Given the description of an element on the screen output the (x, y) to click on. 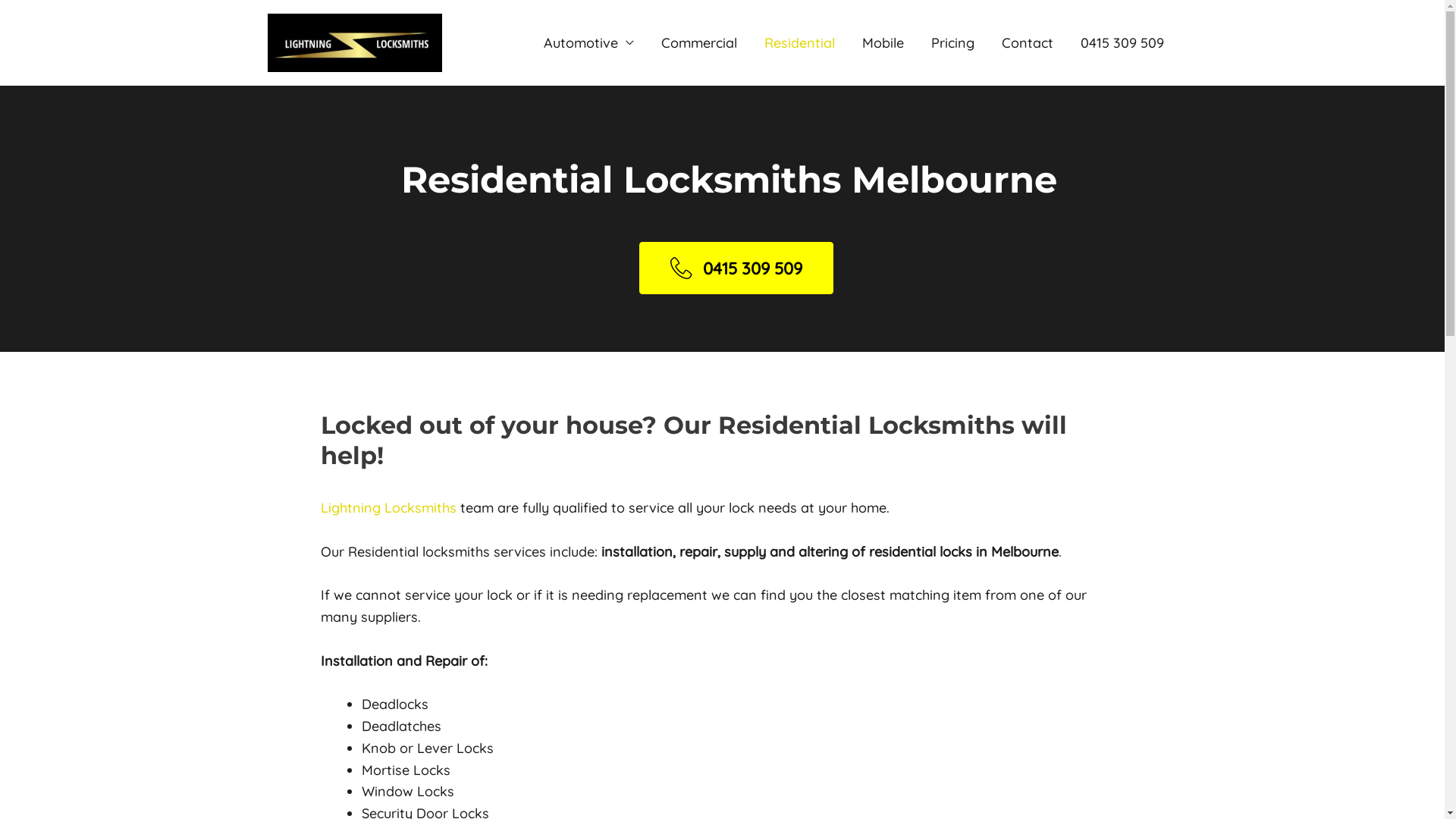
Residential Element type: text (799, 42)
Contact Element type: text (1026, 42)
Automotive Element type: text (587, 42)
0415 309 509 Element type: text (736, 267)
0415 309 509 Element type: text (1121, 42)
Commercial Element type: text (698, 42)
Pricing Element type: text (952, 42)
Lightning Locksmiths Element type: text (387, 507)
Mobile Element type: text (881, 42)
